Given the description of an element on the screen output the (x, y) to click on. 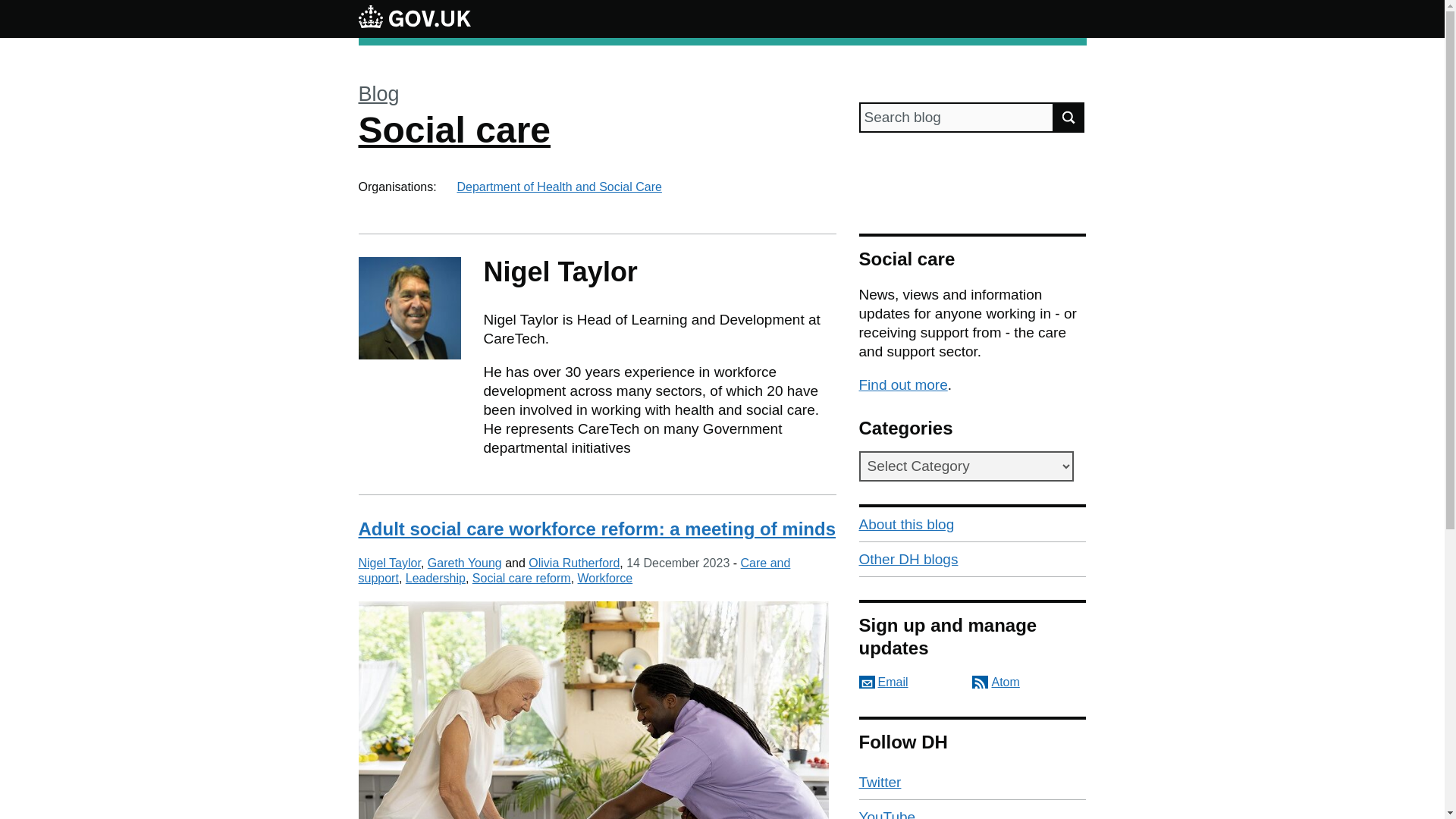
Social care reform (520, 577)
Atom (995, 681)
Twitter (972, 782)
Adult social care workforce reform: a meeting of minds (596, 528)
Posts by Nigel Taylor (389, 562)
Skip to main content (11, 7)
GOV.UK (414, 18)
About this blog (972, 524)
Posts by Olivia Rutherford (574, 562)
Search (1069, 117)
